Given the description of an element on the screen output the (x, y) to click on. 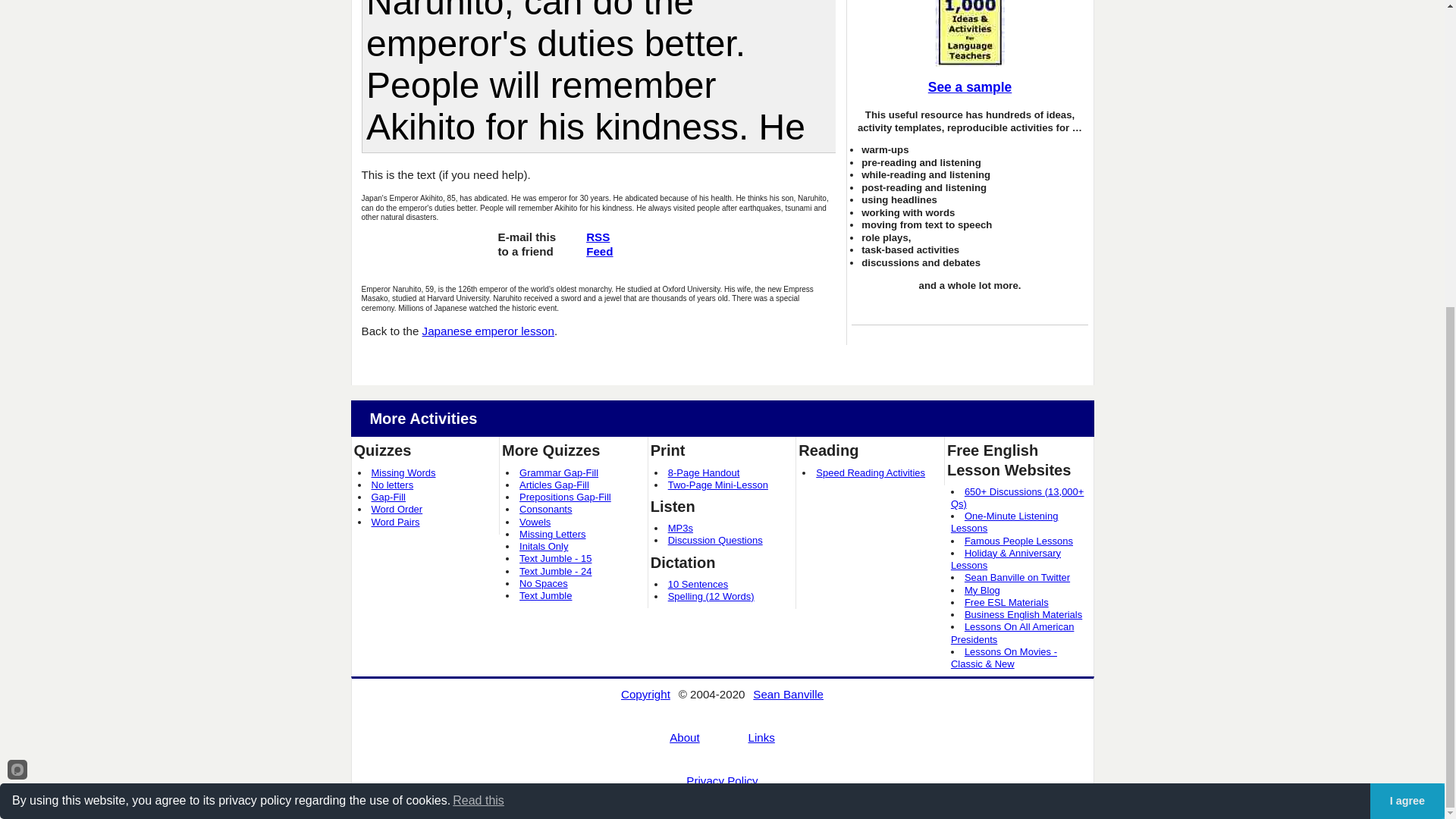
Word Order (397, 509)
10 Sentences (698, 583)
Prepositions Gap-Fill (565, 496)
Articles Gap-Fill (554, 484)
Two-Page Mini-Lesson (718, 484)
Business English Materials (1022, 614)
Sean Banville on Twitter (1016, 577)
Consonants (545, 509)
Subscribe to my feed (599, 243)
... to a friend, student, colleague... (526, 250)
Text Jumble - 24 (555, 571)
Japanese emperor lesson (488, 330)
Text Jumble - 15 (555, 558)
See a sample (969, 87)
Grammar Gap-Fill (558, 472)
